Given the description of an element on the screen output the (x, y) to click on. 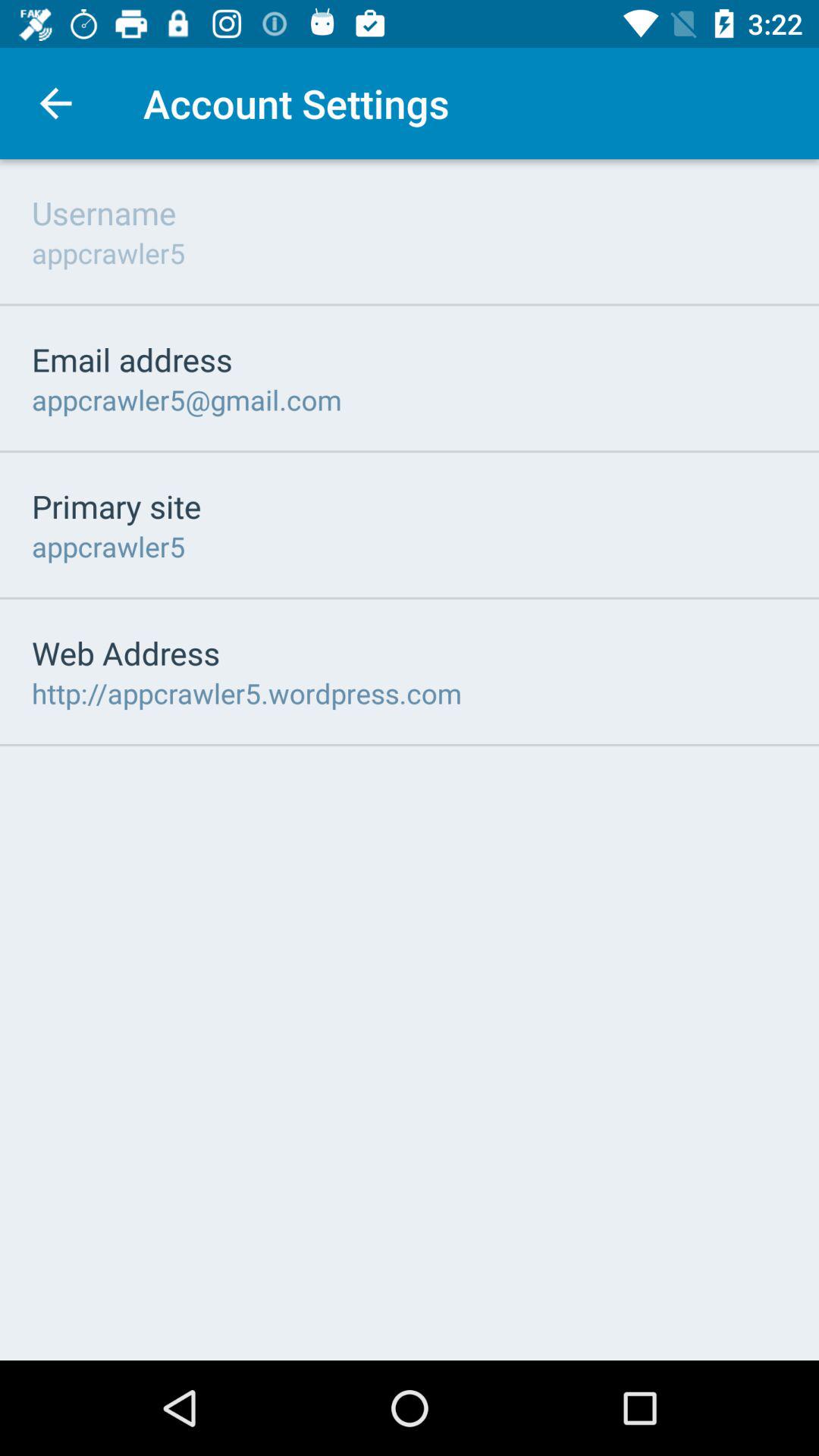
flip to the http appcrawler5 wordpress item (246, 693)
